Given the description of an element on the screen output the (x, y) to click on. 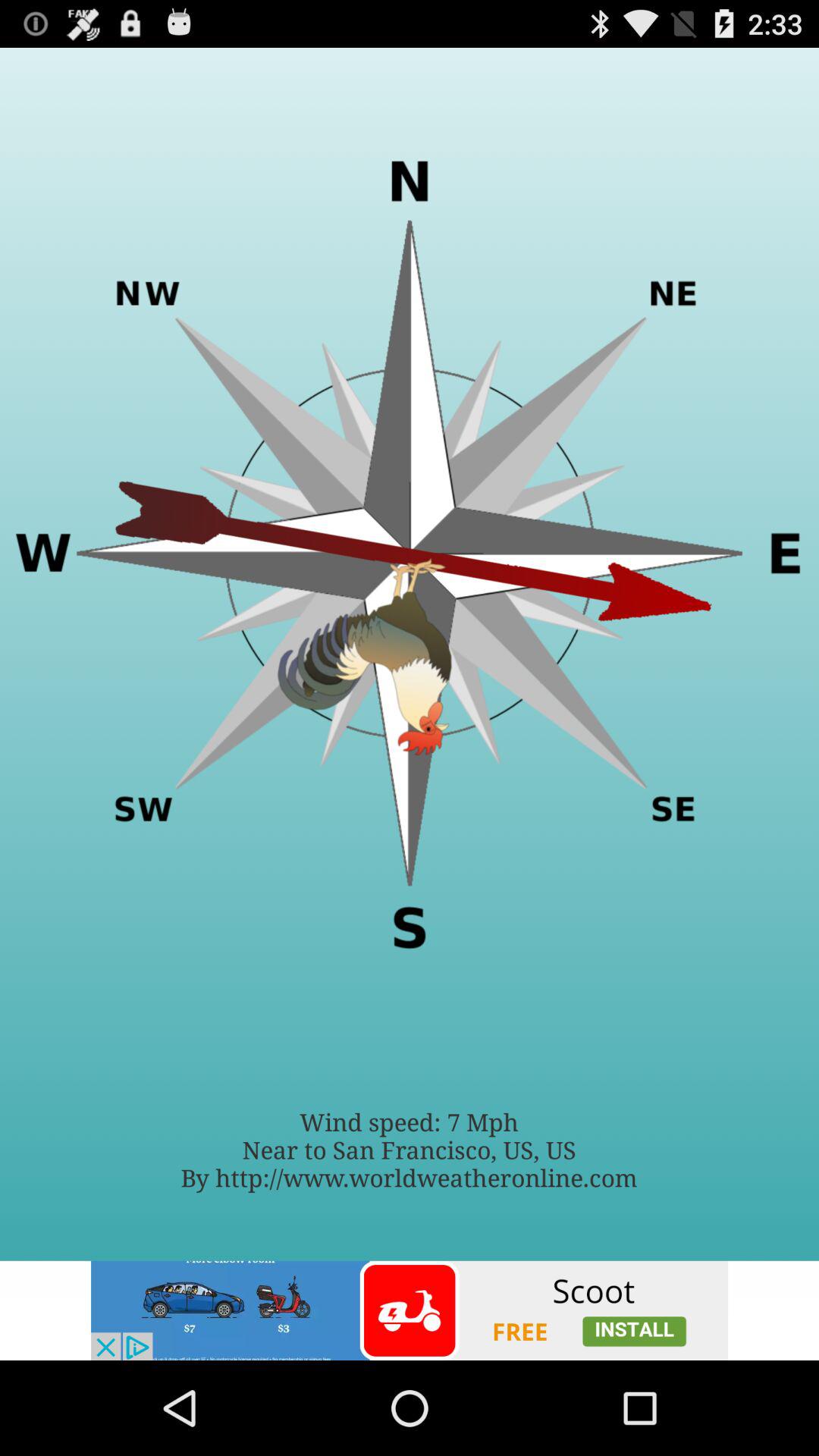
advertisement (409, 1310)
